Given the description of an element on the screen output the (x, y) to click on. 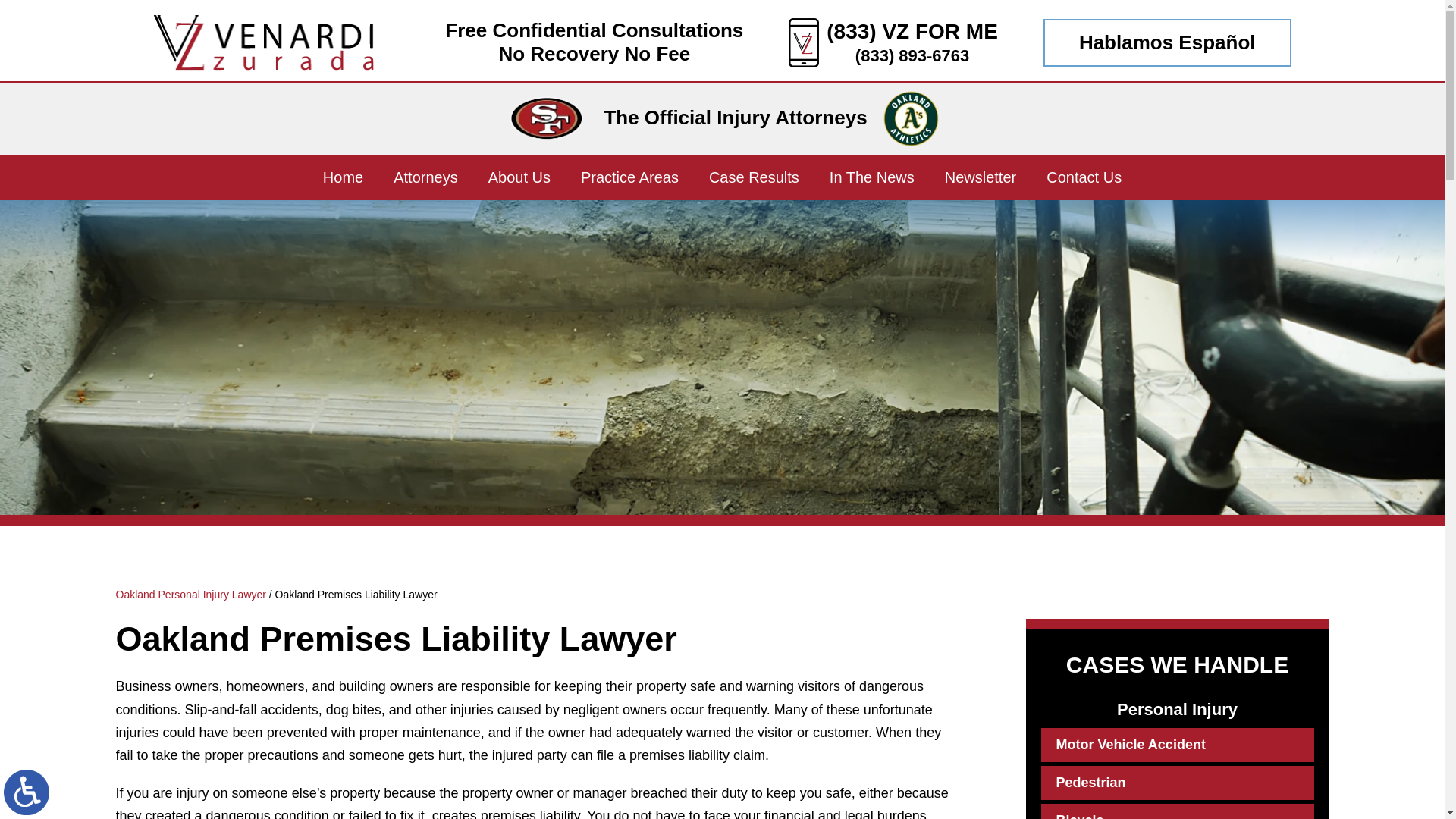
Switch to ADA Accessible Theme (26, 791)
About Us (519, 176)
Home (342, 176)
Attorneys (424, 176)
